Given the description of an element on the screen output the (x, y) to click on. 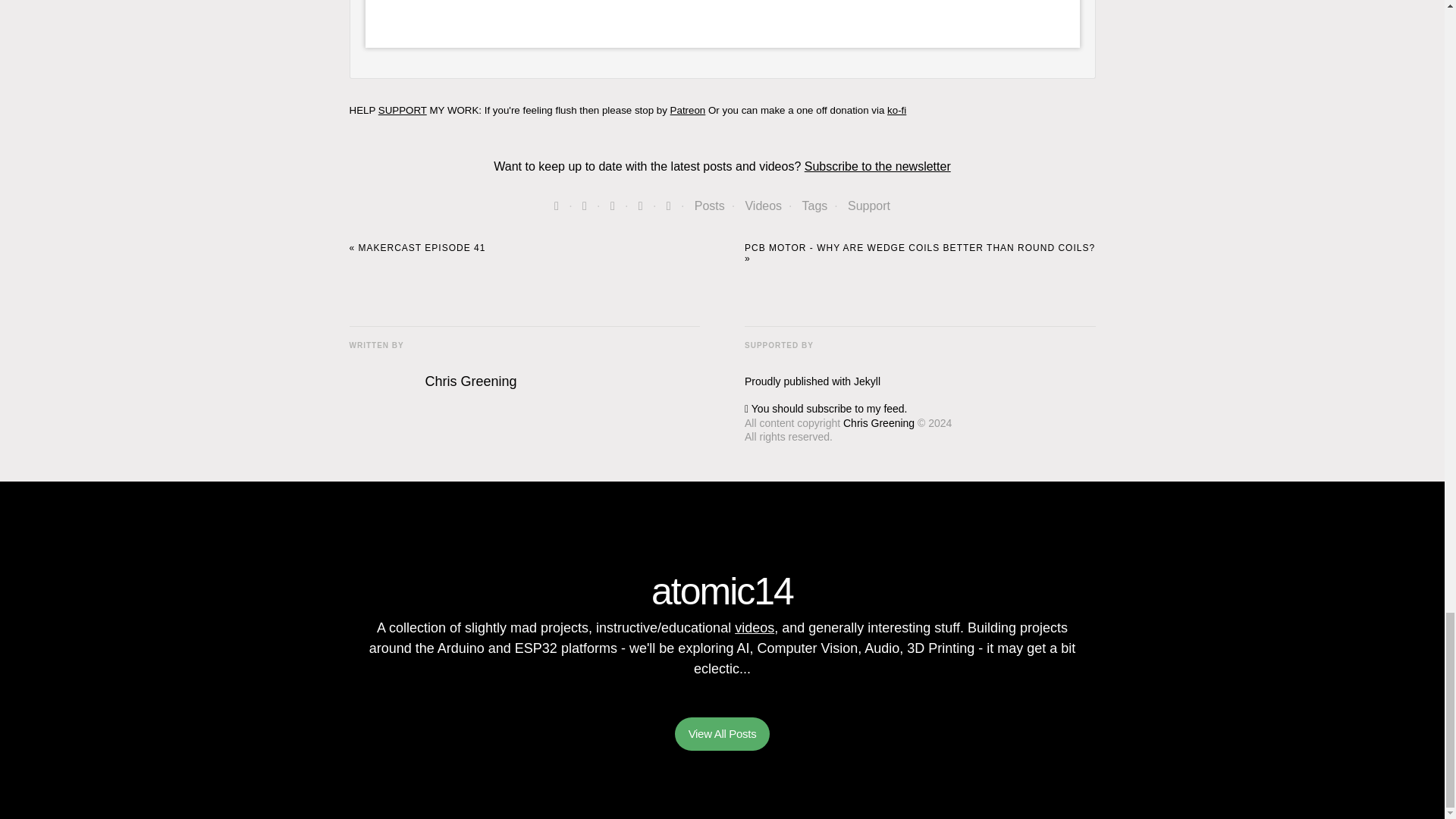
Tags (815, 205)
ko-fi (895, 110)
Subscribe to the newsletter (877, 165)
SUPPORT (402, 110)
Videos (762, 205)
Posts (709, 205)
Patreon (687, 110)
